Given the description of an element on the screen output the (x, y) to click on. 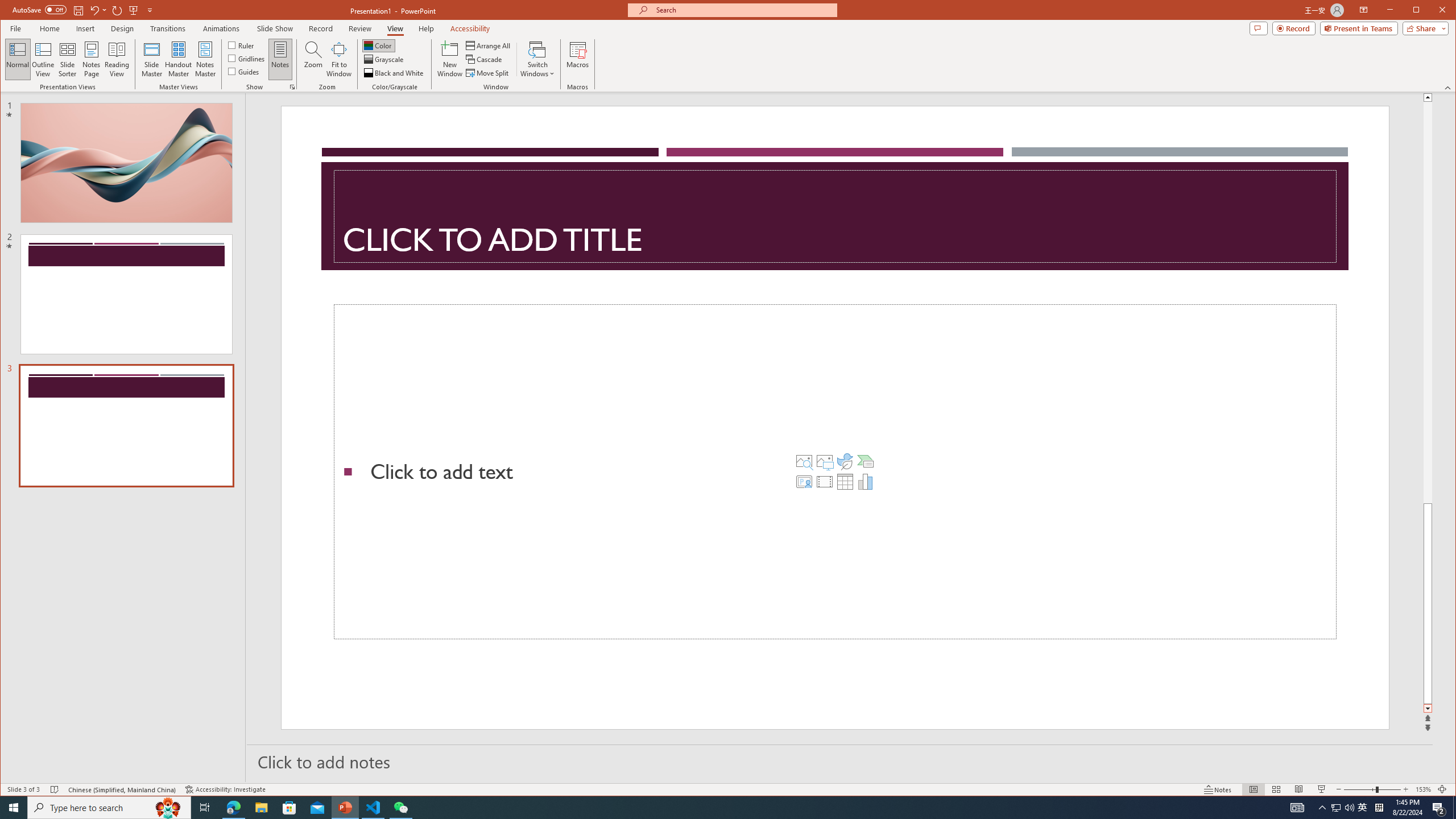
New Window (450, 59)
Macros (576, 59)
Insert Video (824, 481)
